Given the description of an element on the screen output the (x, y) to click on. 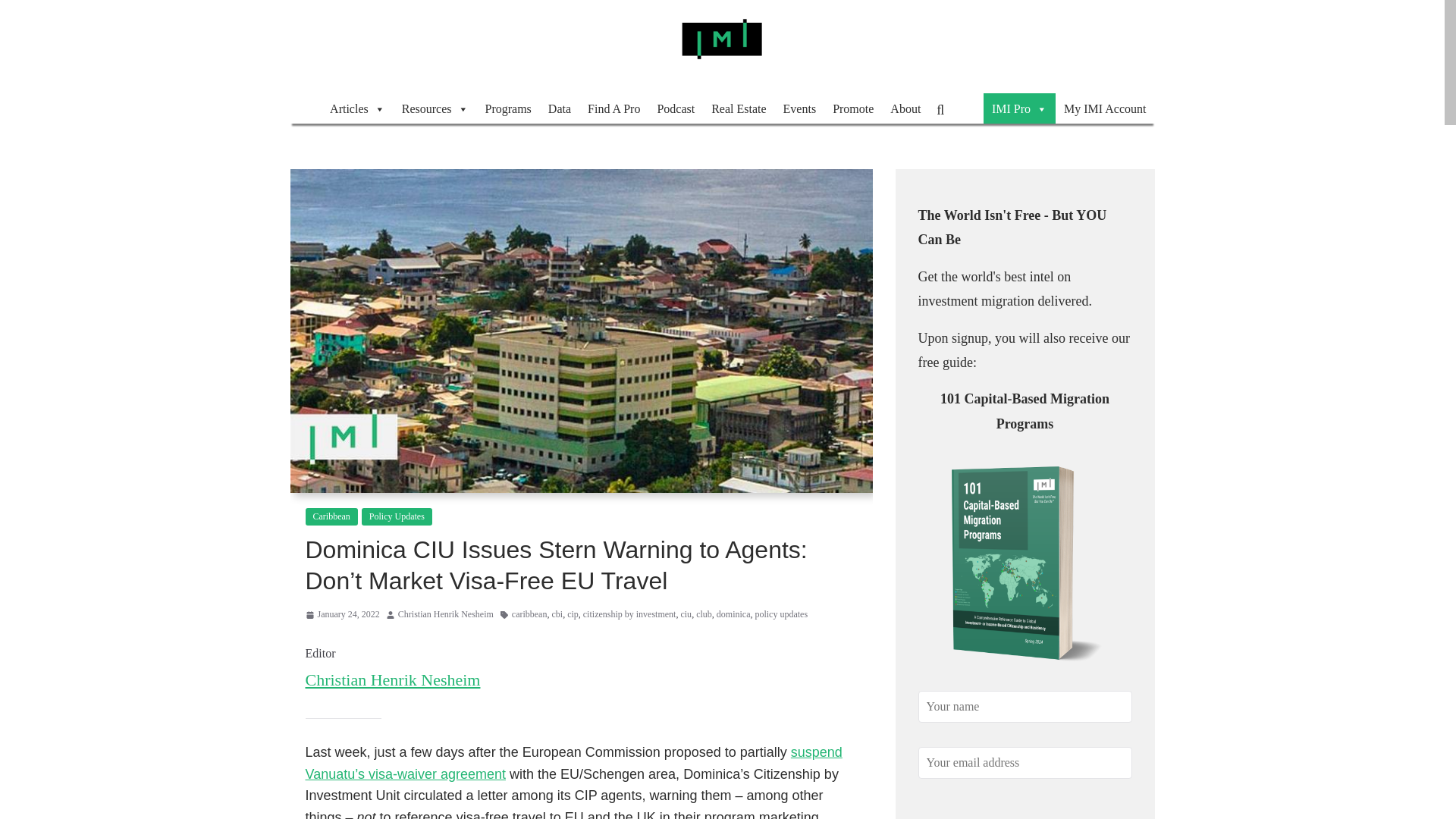
Christian Henrik Nesheim (445, 614)
Articles (357, 108)
1:50 pm (341, 614)
